Given the description of an element on the screen output the (x, y) to click on. 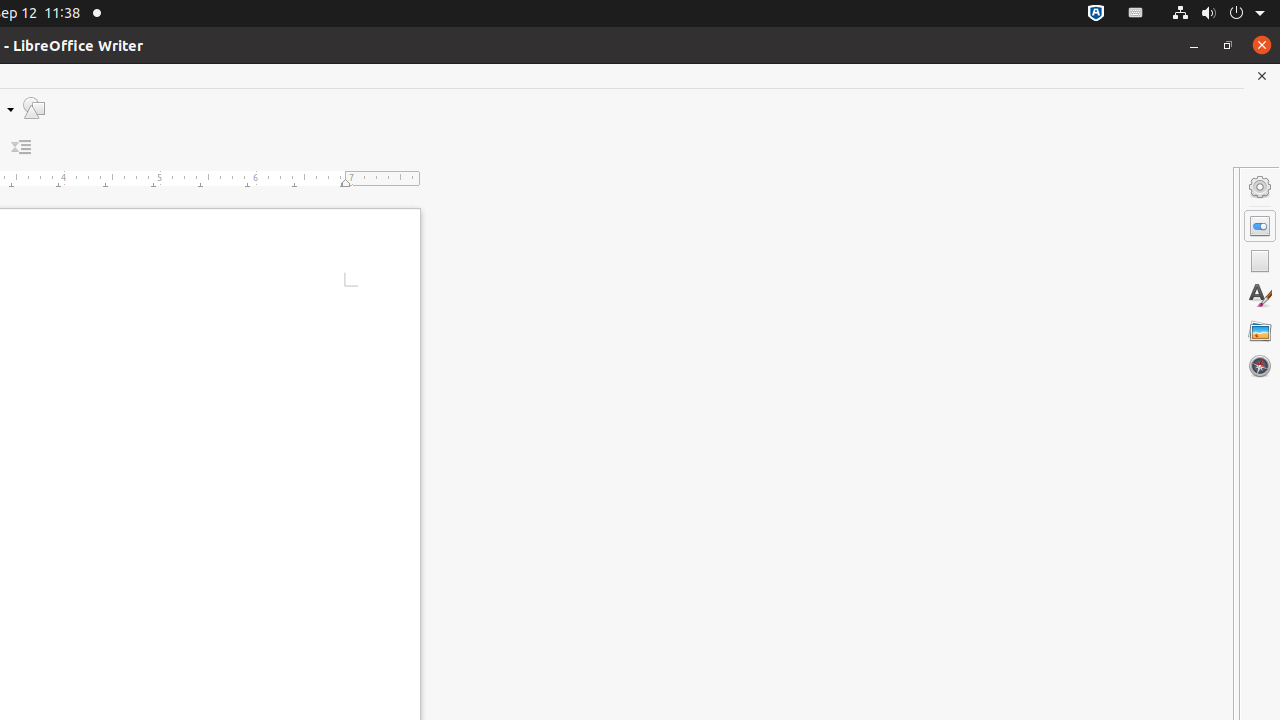
Navigator Element type: radio-button (1260, 366)
Gallery Element type: radio-button (1260, 331)
System Element type: menu (1218, 13)
:1.72/StatusNotifierItem Element type: menu (1096, 13)
Draw Functions Element type: push-button (33, 108)
